Given the description of an element on the screen output the (x, y) to click on. 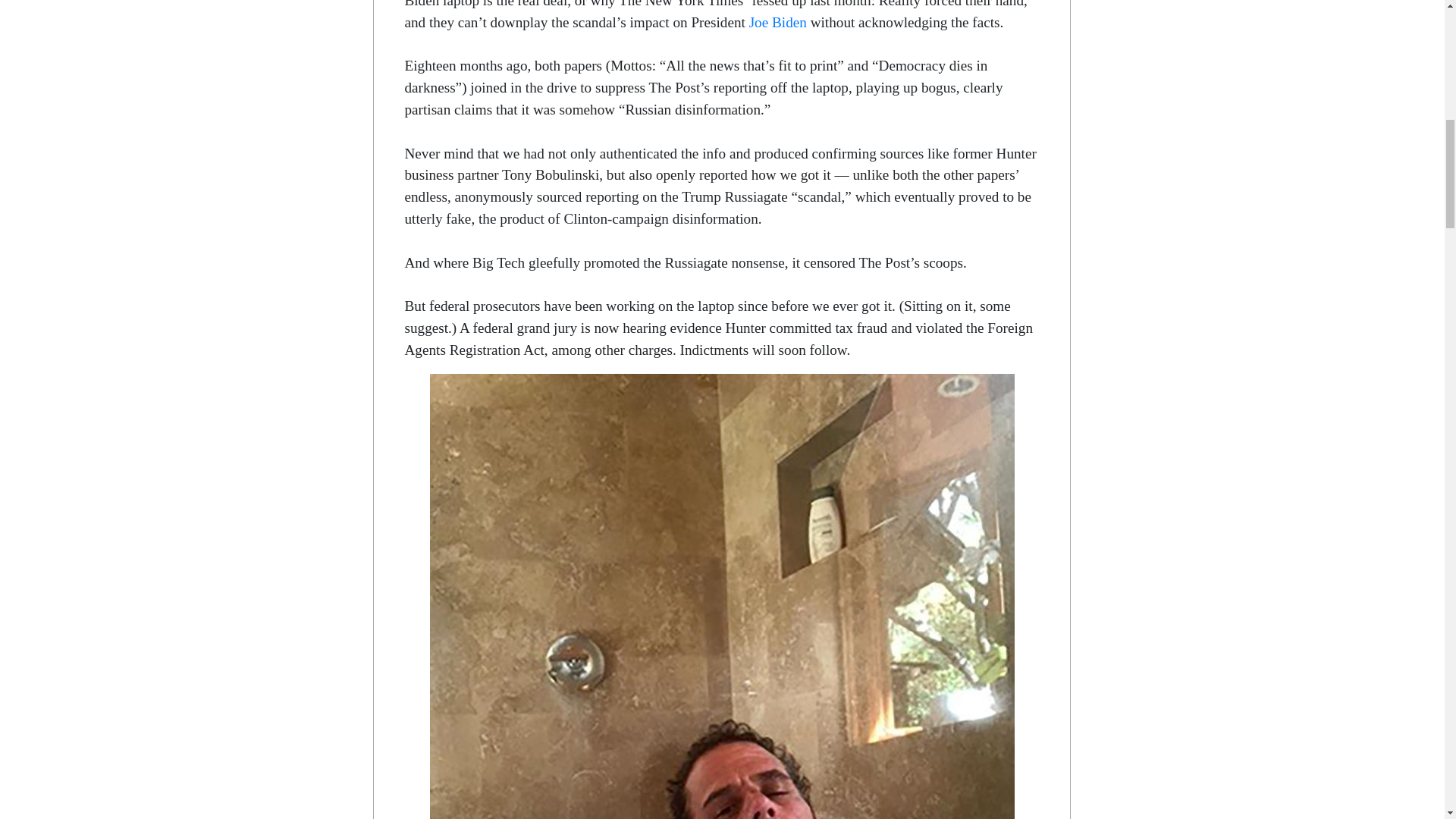
Joe Biden (777, 22)
